Given the description of an element on the screen output the (x, y) to click on. 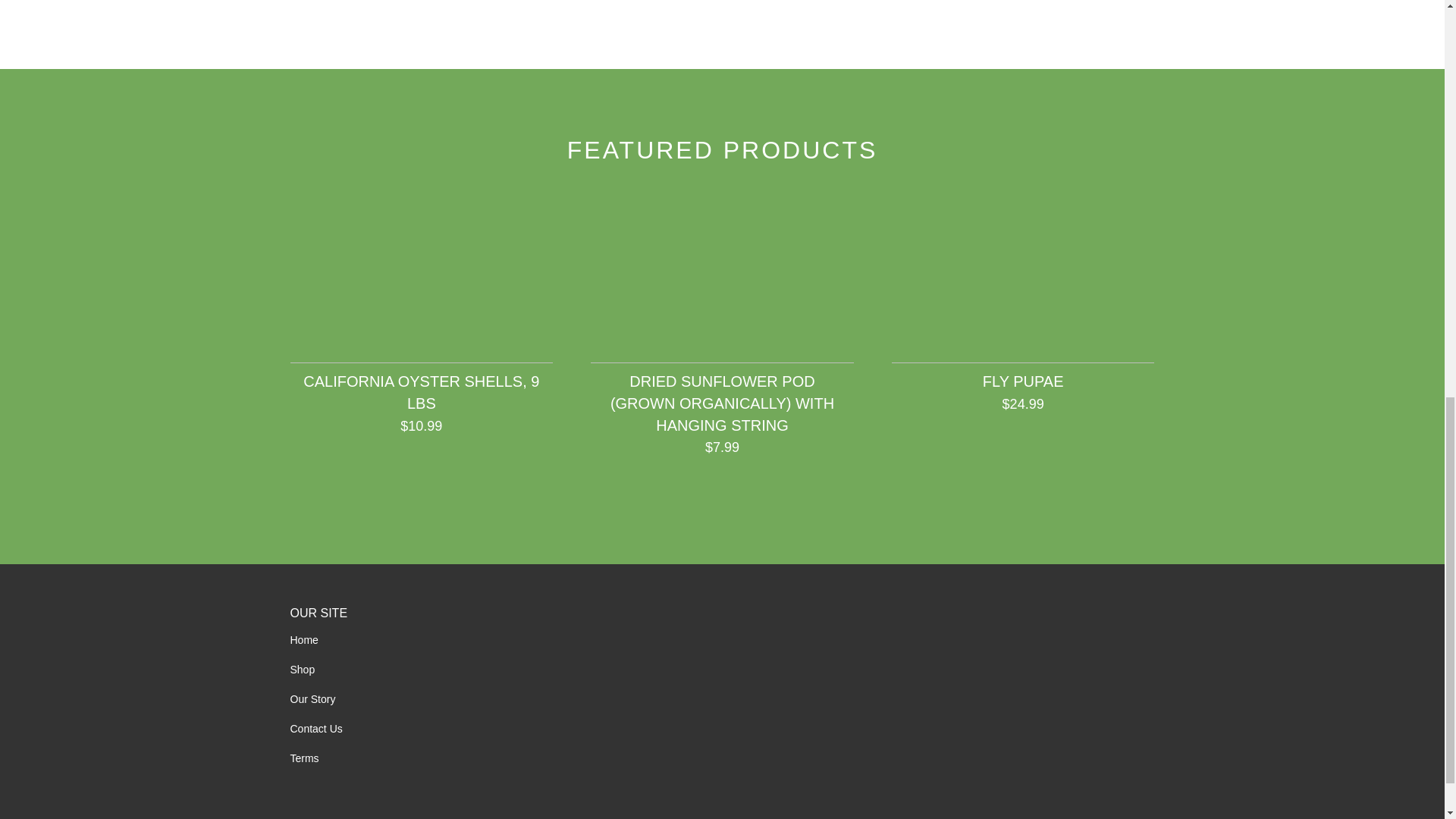
Contact Us (315, 728)
Our Story (311, 698)
Shop (301, 669)
Terms (303, 758)
Home (303, 639)
